Given the description of an element on the screen output the (x, y) to click on. 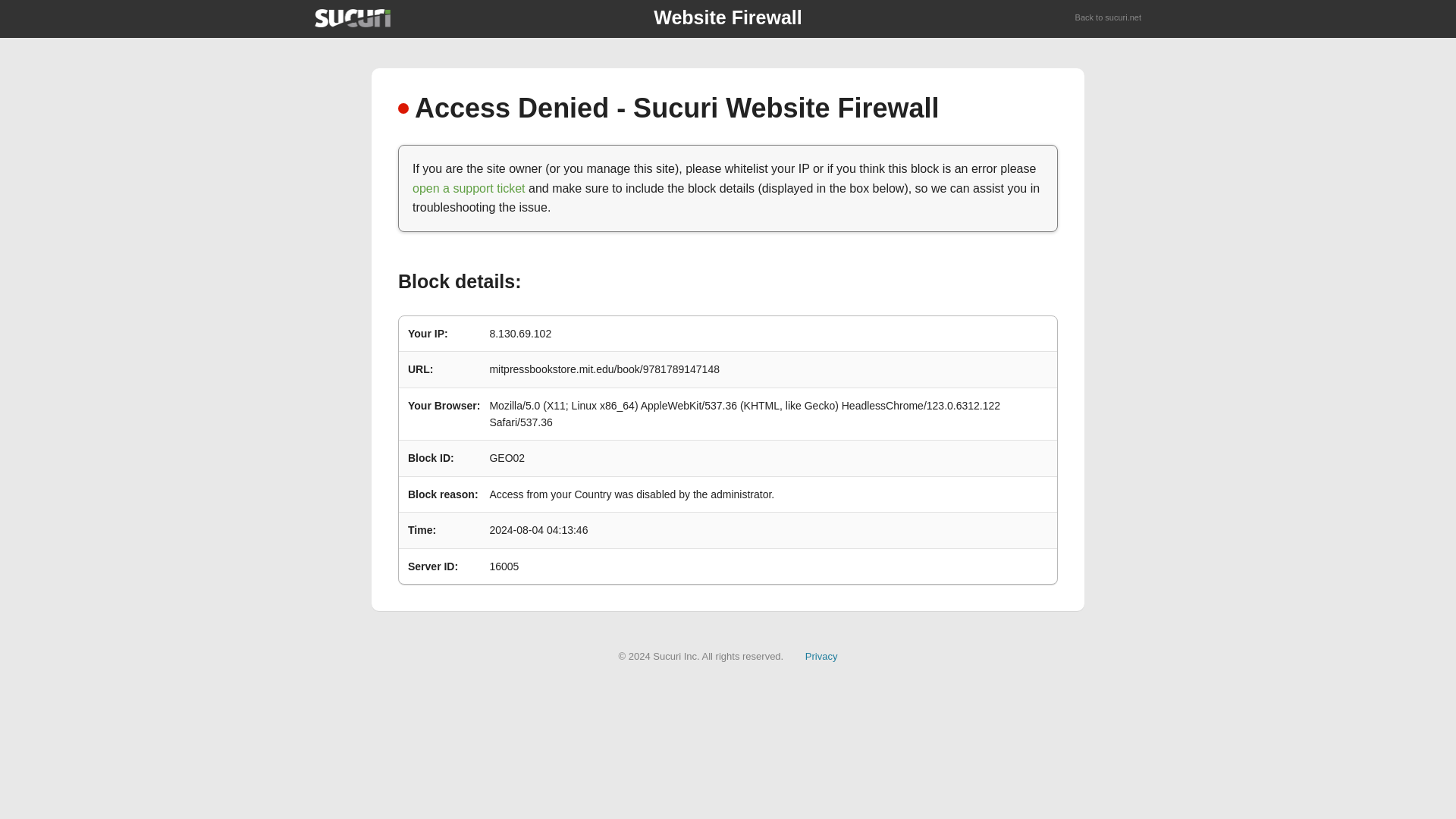
Privacy (821, 655)
open a support ticket (468, 187)
Back to sucuri.net (1108, 18)
